Given the description of an element on the screen output the (x, y) to click on. 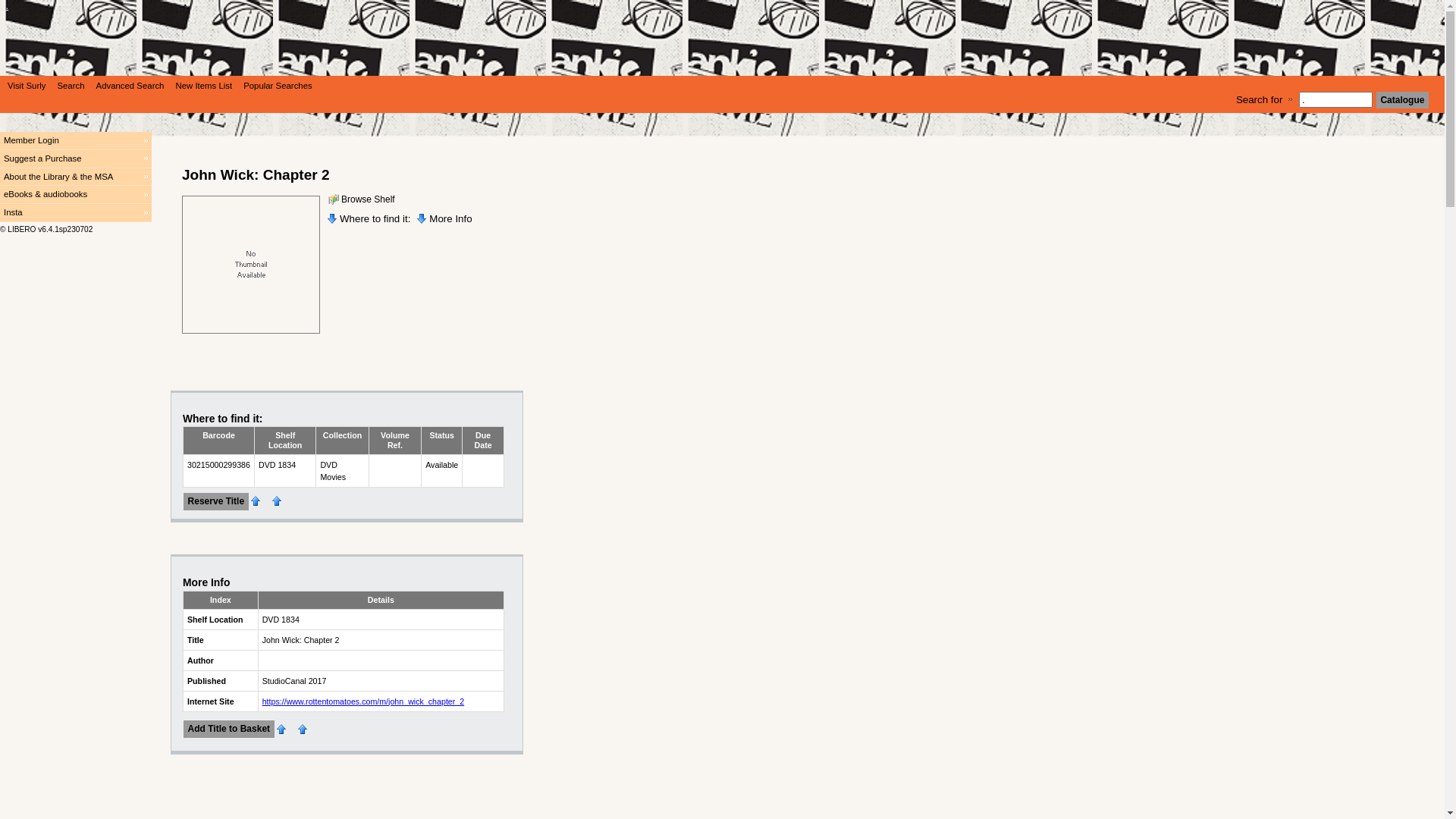
New Items List Element type: text (201, 85)
Search Element type: text (68, 85)
More Info Element type: text (205, 582)
Visit Surly Element type: text (24, 85)
Advanced Search Element type: text (128, 85)
John Wick: Chapter 2 Element type: text (255, 174)
Where to find it: Element type: text (222, 418)
Member Login Element type: text (75, 140)
https://www.rottentomatoes.com/m/john_wick_chapter_2 Element type: text (363, 701)
Where to find it: Element type: text (368, 218)
... Element type: text (722, 47)
Suggest a Purchase Element type: text (75, 159)
Add Title to Basket Element type: text (228, 728)
Insta Element type: text (75, 212)
eBooks & audiobooks Element type: text (75, 194)
About the Library & the MSA Element type: text (75, 177)
Popular Searches Element type: text (275, 85)
More Info Element type: text (444, 218)
Reserve Title Element type: text (215, 501)
John Wick: Chapter 2 Element type: hover (251, 264)
Available Element type: text (441, 464)
Catalogue Element type: text (1402, 100)
Browse Shelf Element type: text (361, 199)
